Given the description of an element on the screen output the (x, y) to click on. 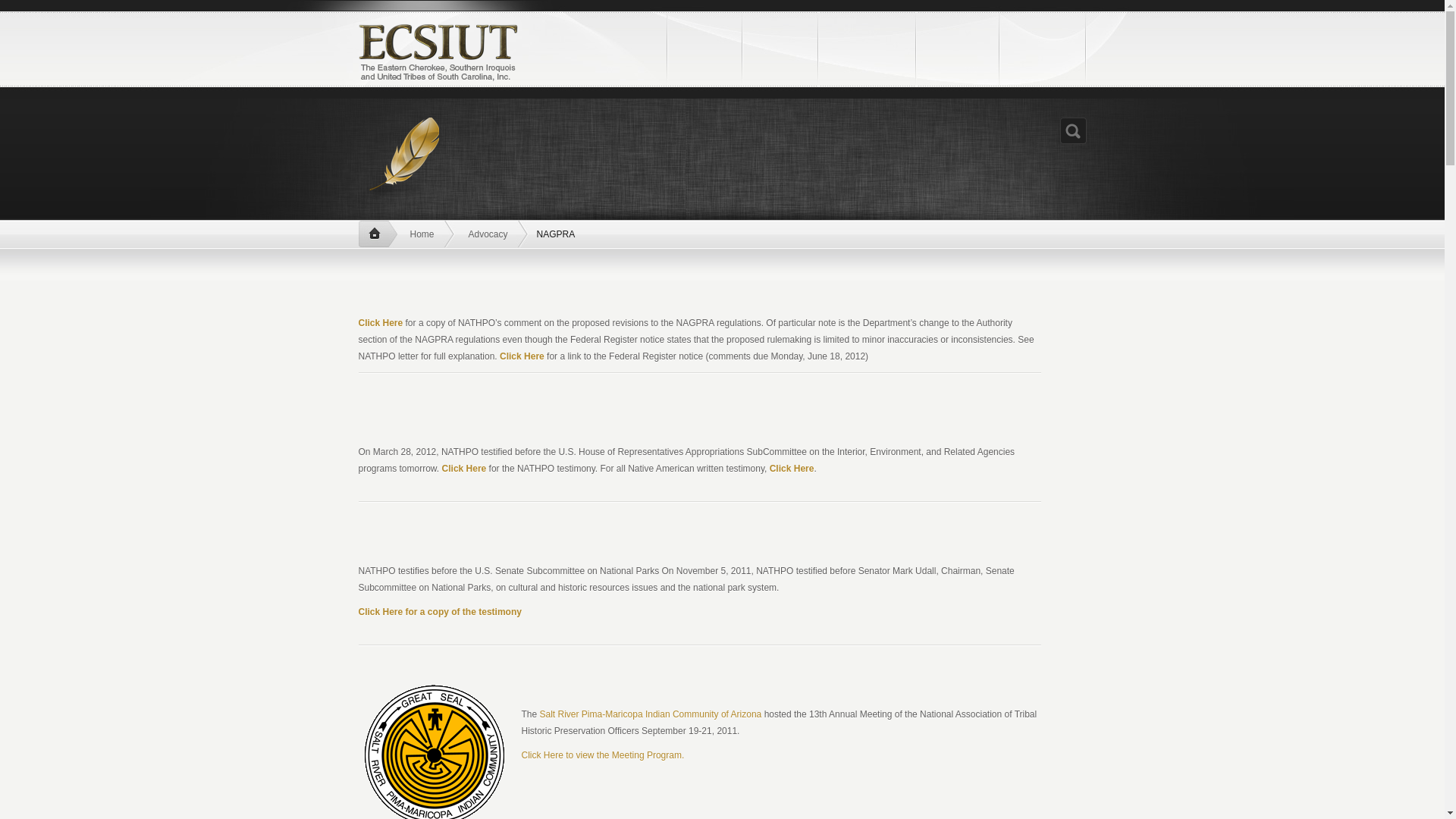
Click Here (791, 468)
Click Here for a copy of the testimony (439, 611)
Salt River Pima-Maricopa Indian Community of Arizona (650, 714)
Click Here to view the Meeting Program. (602, 755)
Search (1072, 130)
Advocacy (489, 234)
Click Here (464, 468)
Click Here (380, 322)
Home (424, 234)
Click Here (521, 356)
Home (377, 234)
